Given the description of an element on the screen output the (x, y) to click on. 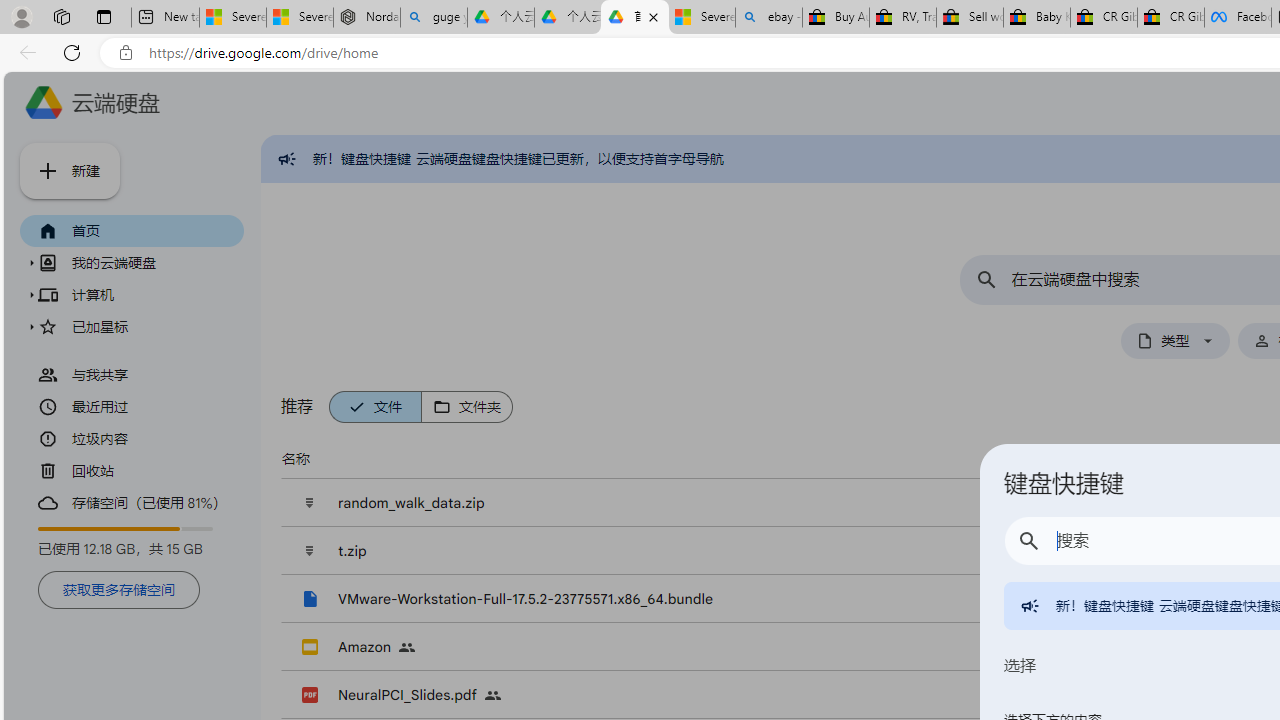
Nordace - Summer Adventures 2024 (367, 17)
ebay - Search (769, 17)
